Given the description of an element on the screen output the (x, y) to click on. 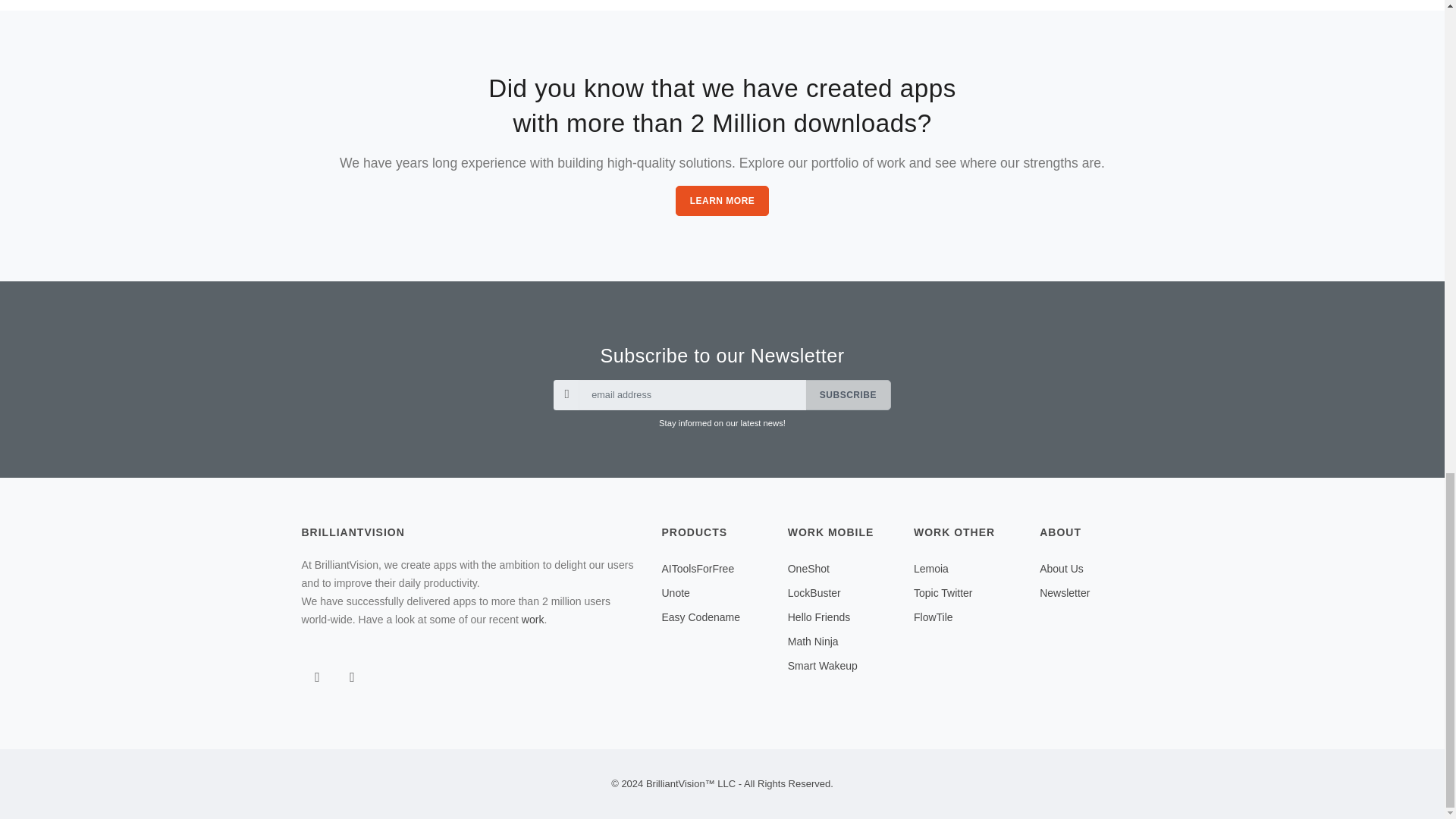
Subscribe (848, 395)
